Given the description of an element on the screen output the (x, y) to click on. 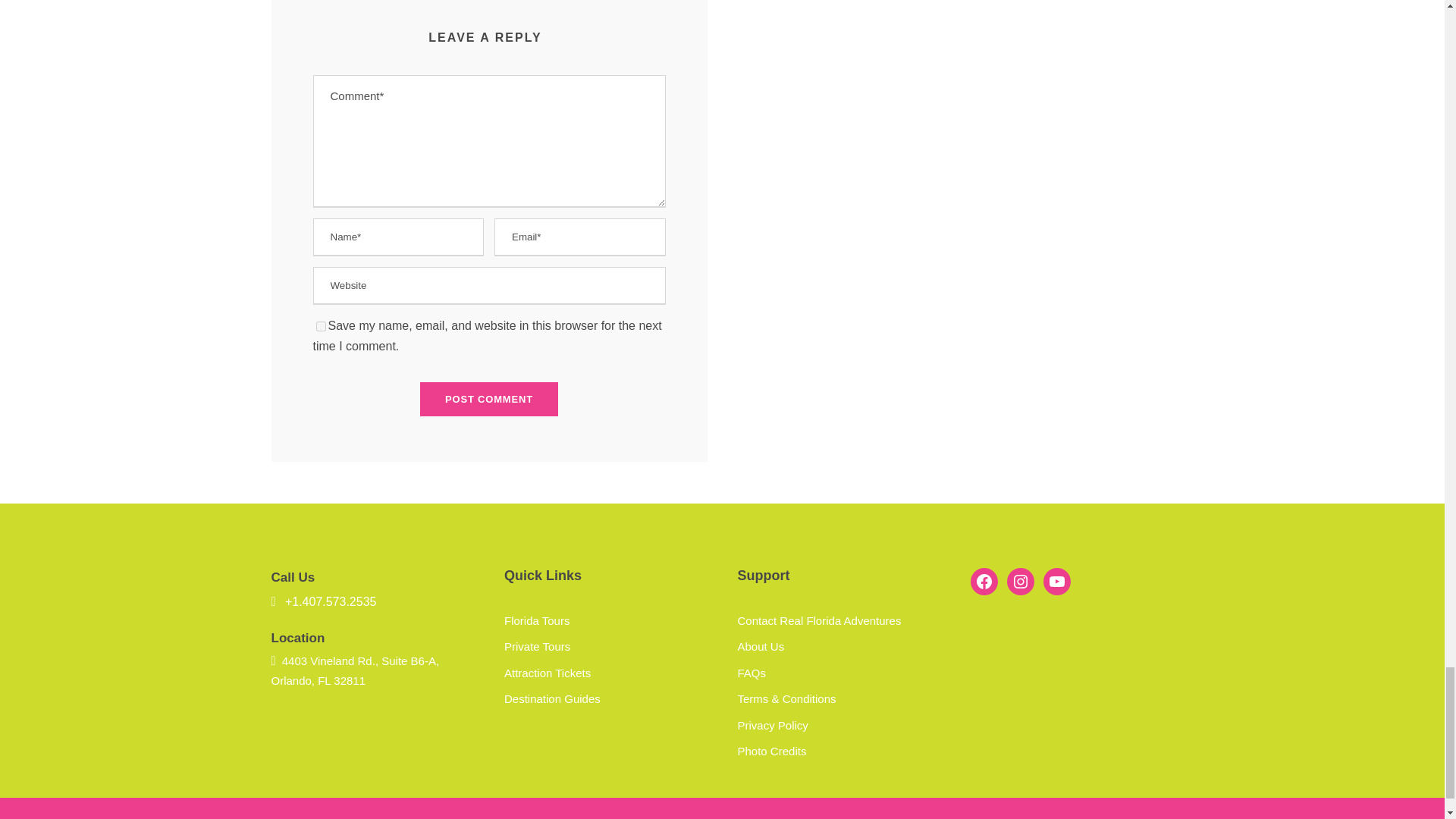
yes (319, 326)
Post Comment (488, 399)
